Given the description of an element on the screen output the (x, y) to click on. 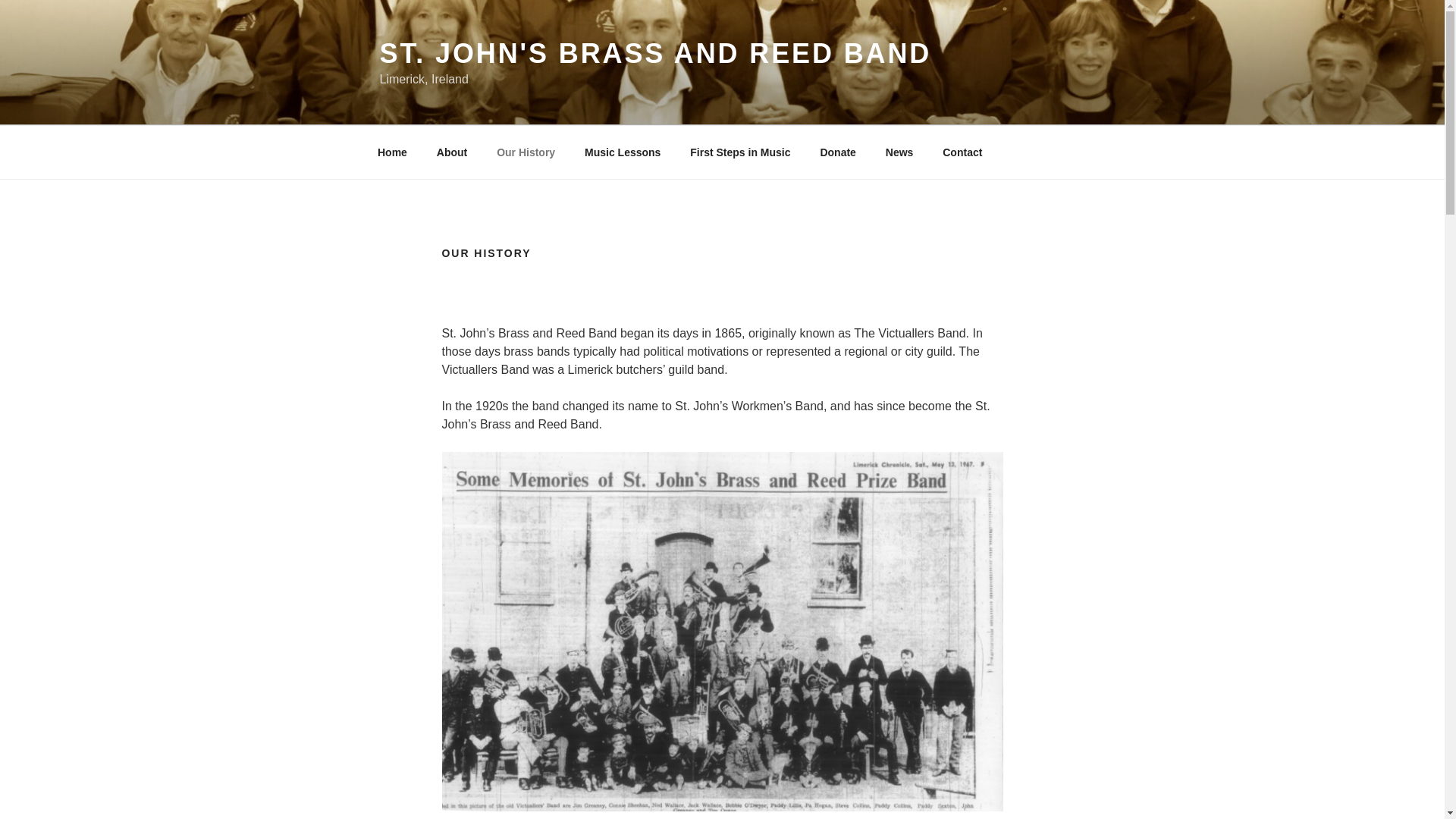
Our History (526, 151)
First Steps in Music (740, 151)
About (451, 151)
ST. JOHN'S BRASS AND REED BAND (654, 52)
Contact (962, 151)
Donate (837, 151)
Music Lessons (623, 151)
News (899, 151)
Home (392, 151)
